Given the description of an element on the screen output the (x, y) to click on. 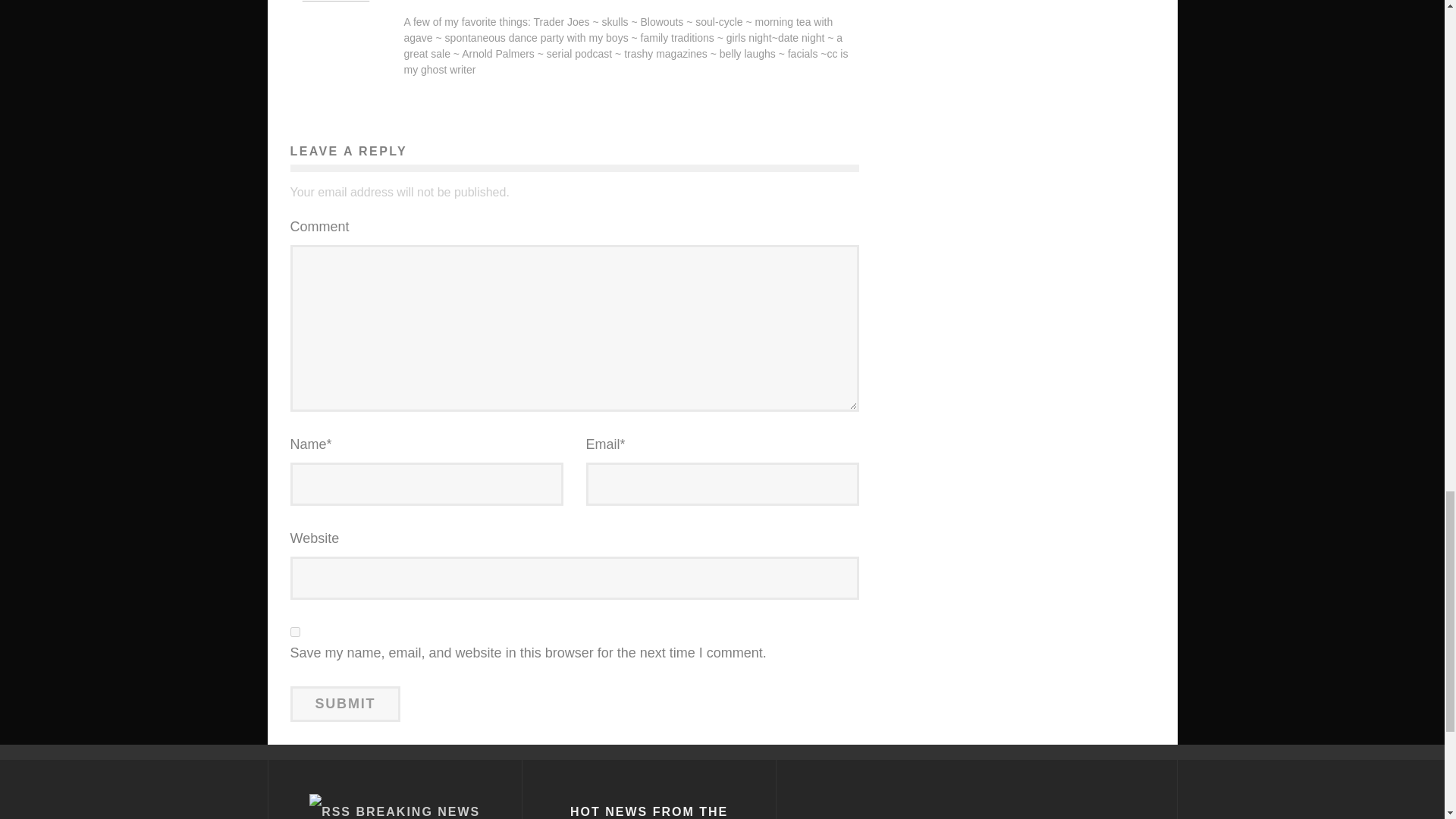
yes (294, 632)
Submit (344, 703)
